Given the description of an element on the screen output the (x, y) to click on. 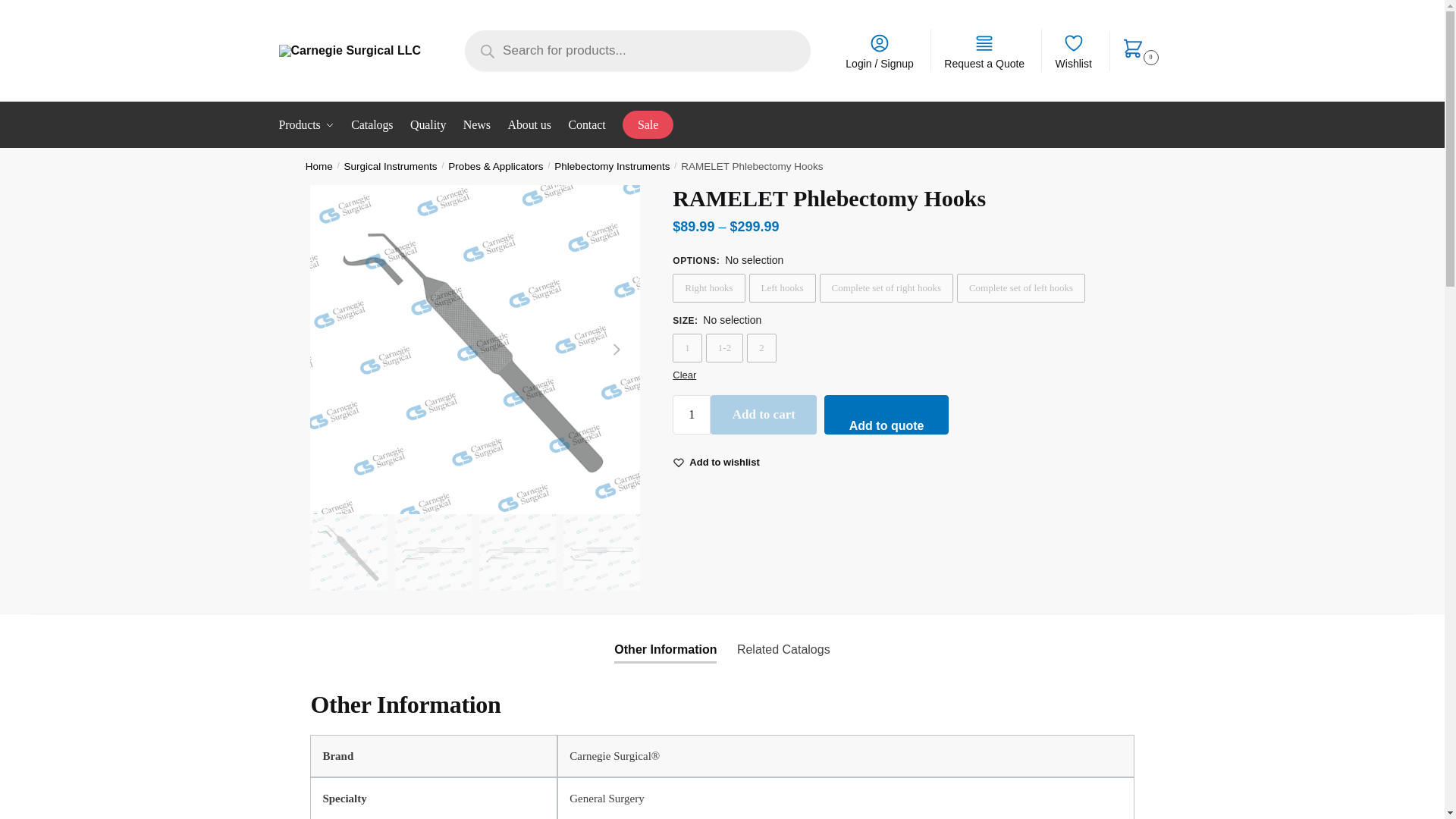
Products (309, 125)
Request a Quote (983, 50)
Sale (647, 125)
News (477, 125)
click to zoom-in (475, 350)
Contact (587, 125)
Quality (427, 125)
Wishlist (1072, 50)
0 (1137, 51)
520-42309 (348, 552)
